Given the description of an element on the screen output the (x, y) to click on. 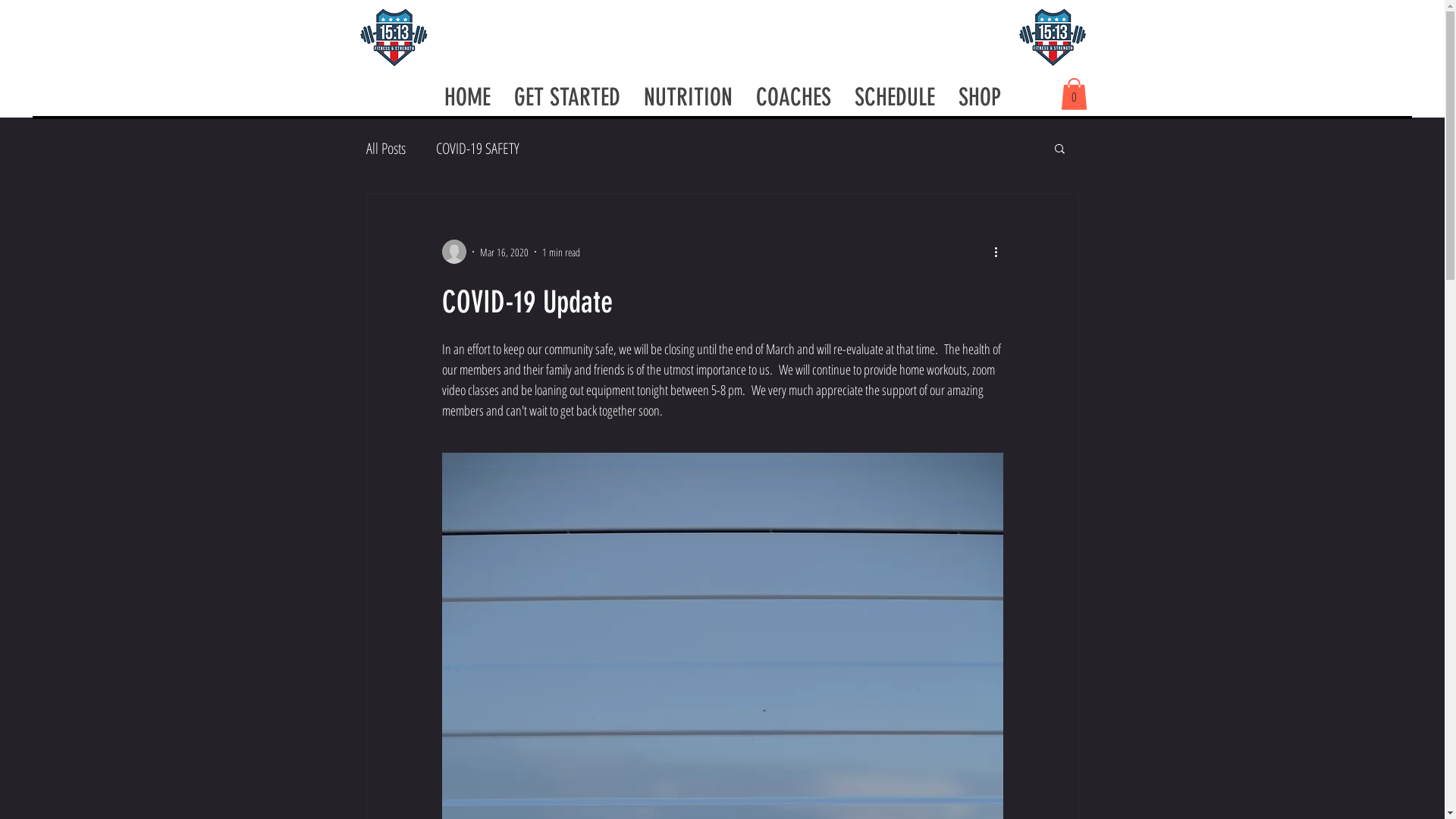
0 Element type: text (1073, 93)
Conversion Popup Element type: hover (722, 248)
HOME Element type: text (467, 97)
COACHES Element type: text (792, 97)
NUTRITION Element type: text (687, 97)
Conversion Popup Element type: hover (722, 15)
SCHEDULE Element type: text (894, 97)
All Posts Element type: text (384, 148)
SHOP Element type: text (979, 97)
COVID-19 SAFETY Element type: text (476, 148)
GET STARTED Element type: text (566, 97)
